Given the description of an element on the screen output the (x, y) to click on. 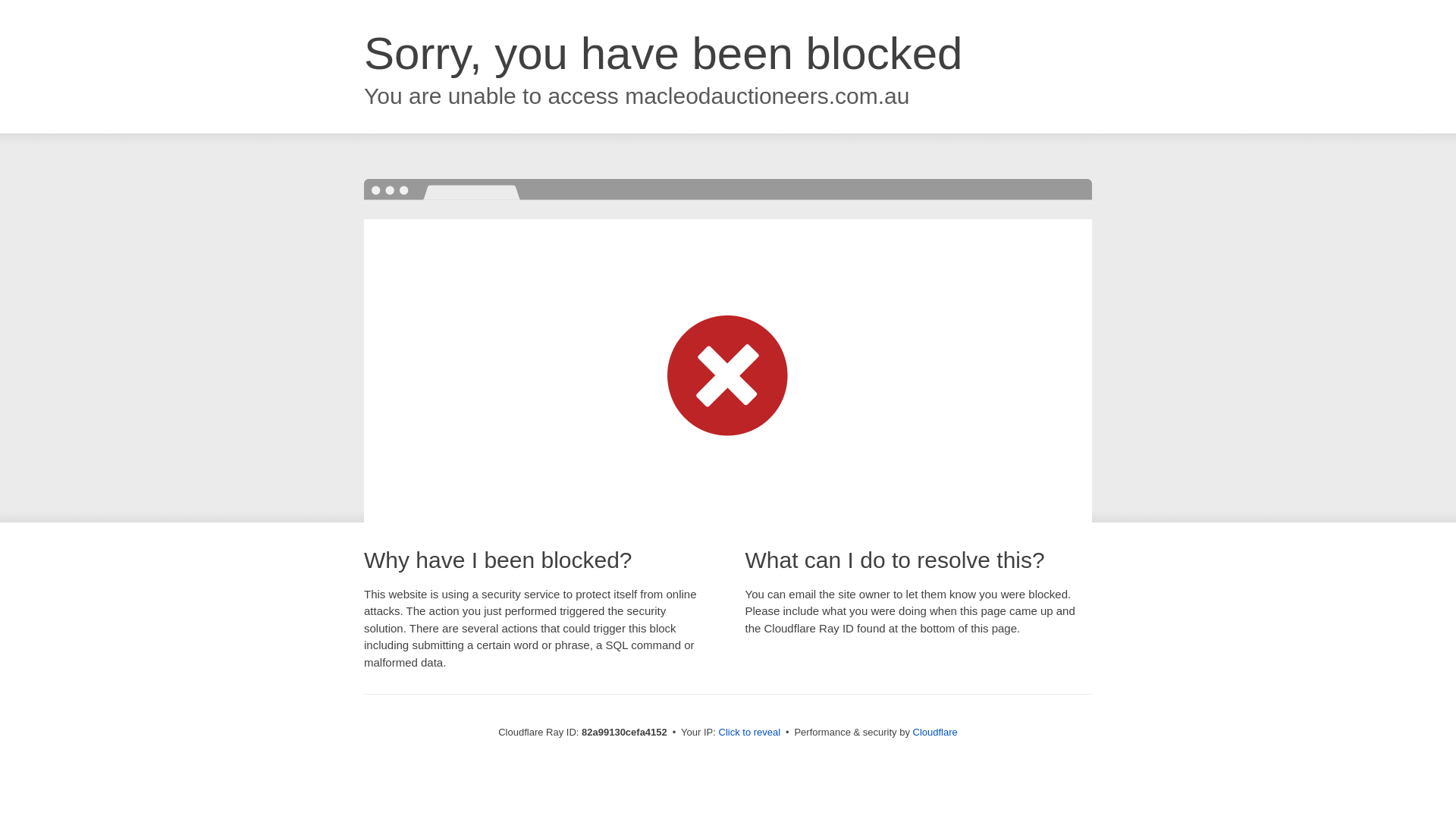
Cloudflare Element type: text (935, 731)
Click to reveal Element type: text (749, 732)
